Given the description of an element on the screen output the (x, y) to click on. 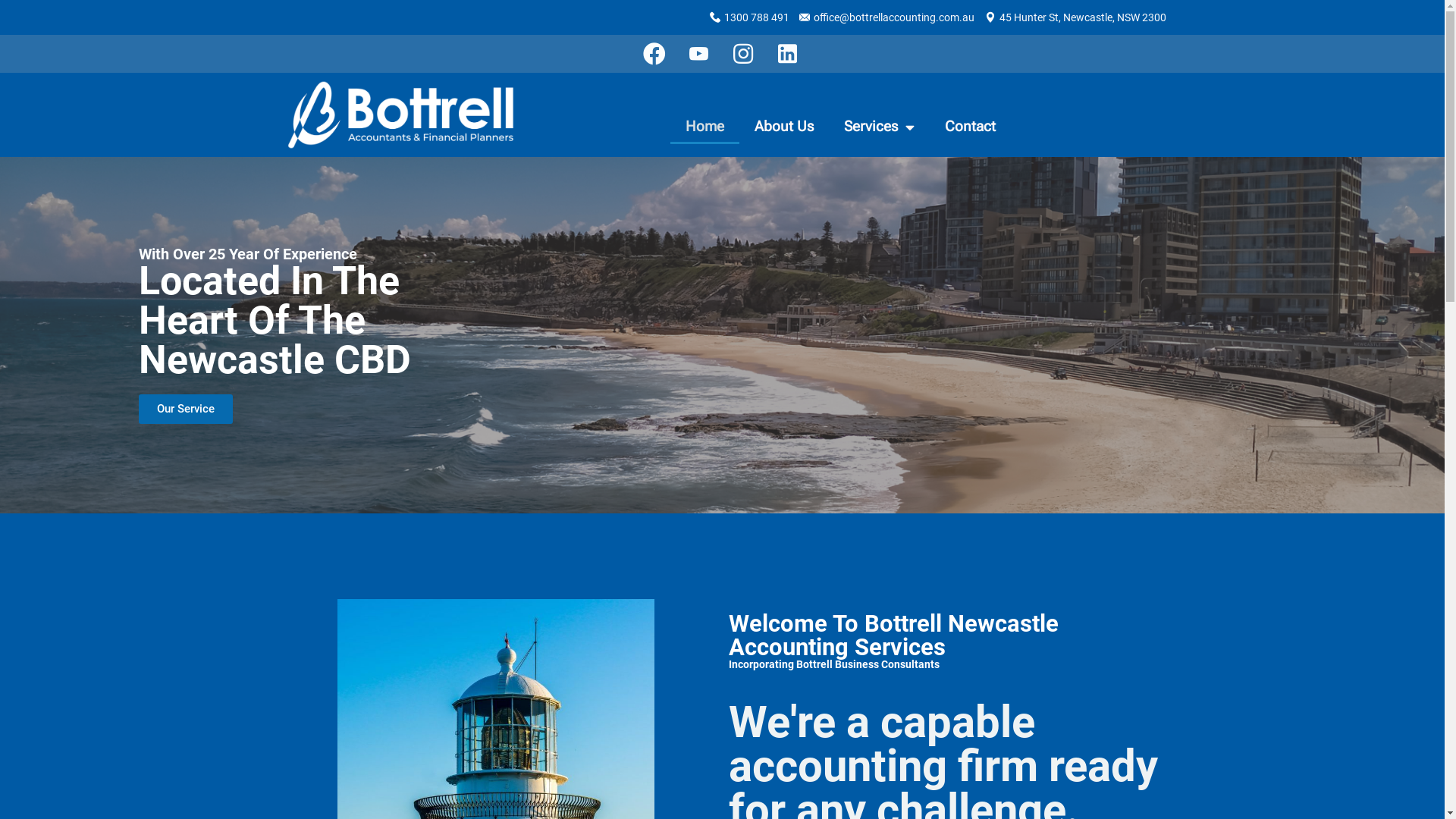
Contact Element type: text (969, 126)
About Us Element type: text (783, 126)
Our Service Element type: text (185, 408)
Services Element type: text (878, 126)
Home Element type: text (704, 126)
